Given the description of an element on the screen output the (x, y) to click on. 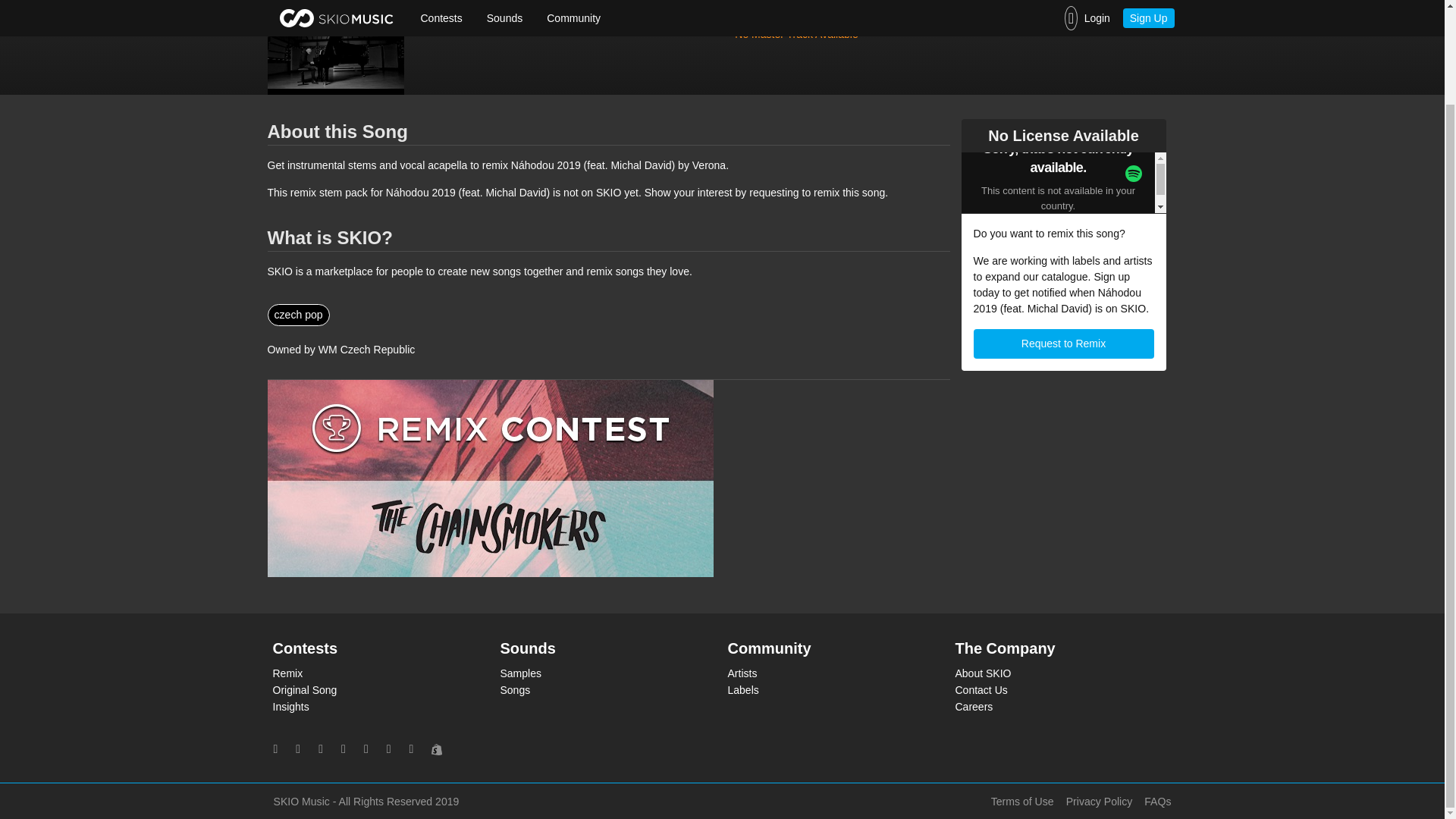
Original Song (375, 689)
Remix (375, 673)
Request to Remix (1064, 344)
czech pop (297, 314)
